Given the description of an element on the screen output the (x, y) to click on. 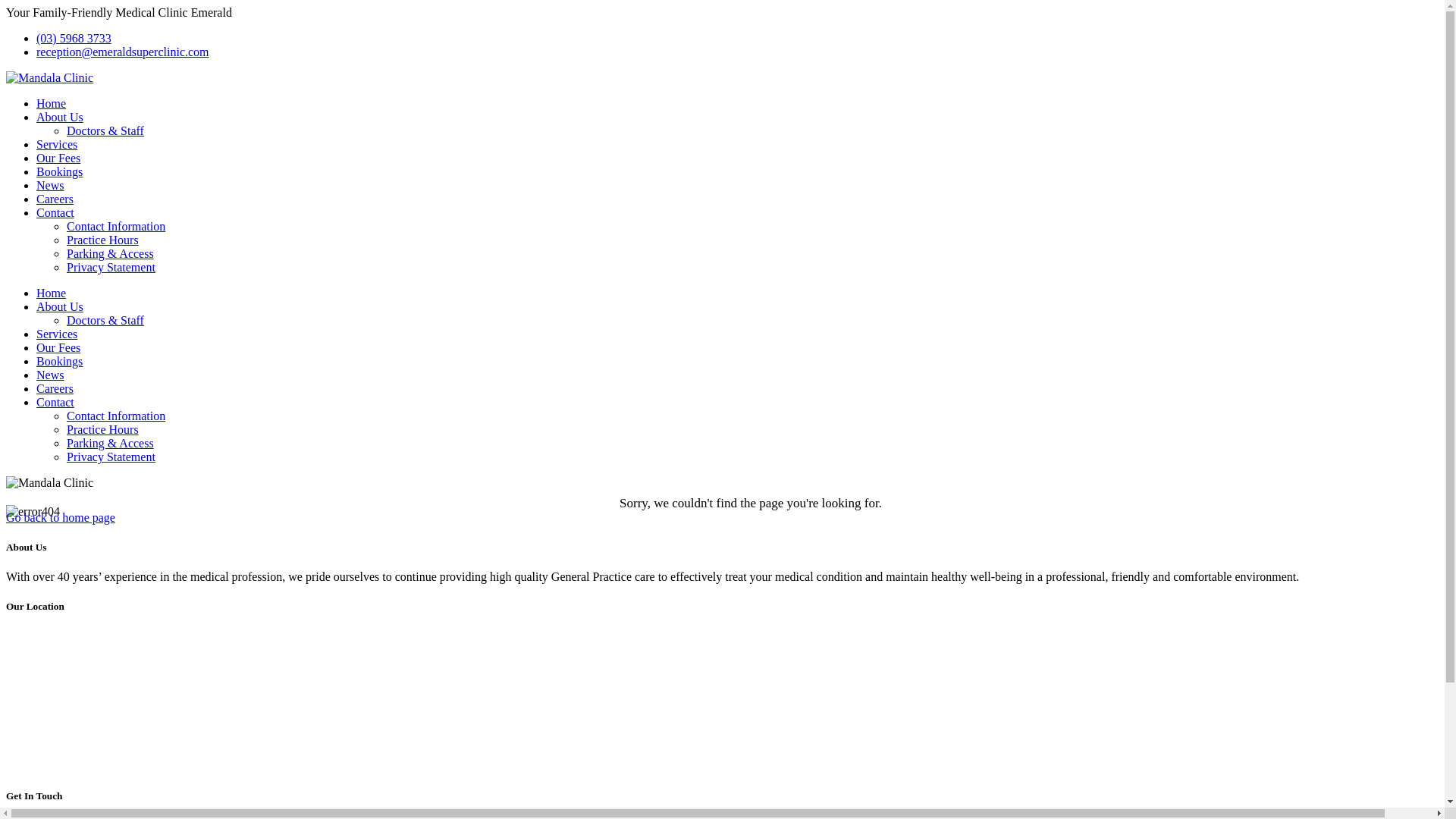
Services Element type: text (56, 333)
News Element type: text (49, 374)
News Element type: text (49, 184)
Doctors & Staff Element type: text (105, 130)
Parking & Access Element type: text (109, 442)
Bookings Element type: text (59, 171)
Services Element type: text (56, 144)
Privacy Statement Element type: text (110, 456)
Privacy Statement Element type: text (110, 266)
Home Element type: text (50, 103)
Contact Information Element type: text (115, 415)
Careers Element type: text (54, 198)
reception@emeraldsuperclinic.com Element type: text (122, 51)
Bookings Element type: text (59, 360)
About Us Element type: text (59, 116)
Doctors & Staff Element type: text (105, 319)
Careers Element type: text (54, 388)
Parking & Access Element type: text (109, 253)
Contact Element type: text (55, 401)
Our Fees Element type: text (58, 347)
Go back to home page Element type: text (60, 517)
About Us Element type: text (59, 306)
Practice Hours Element type: text (102, 239)
Practice Hours Element type: text (102, 429)
(03) 5968 3733 Element type: text (73, 37)
Our Fees Element type: text (58, 157)
Home Element type: text (50, 292)
Contact Information Element type: text (115, 225)
Contact Element type: text (55, 212)
